Given the description of an element on the screen output the (x, y) to click on. 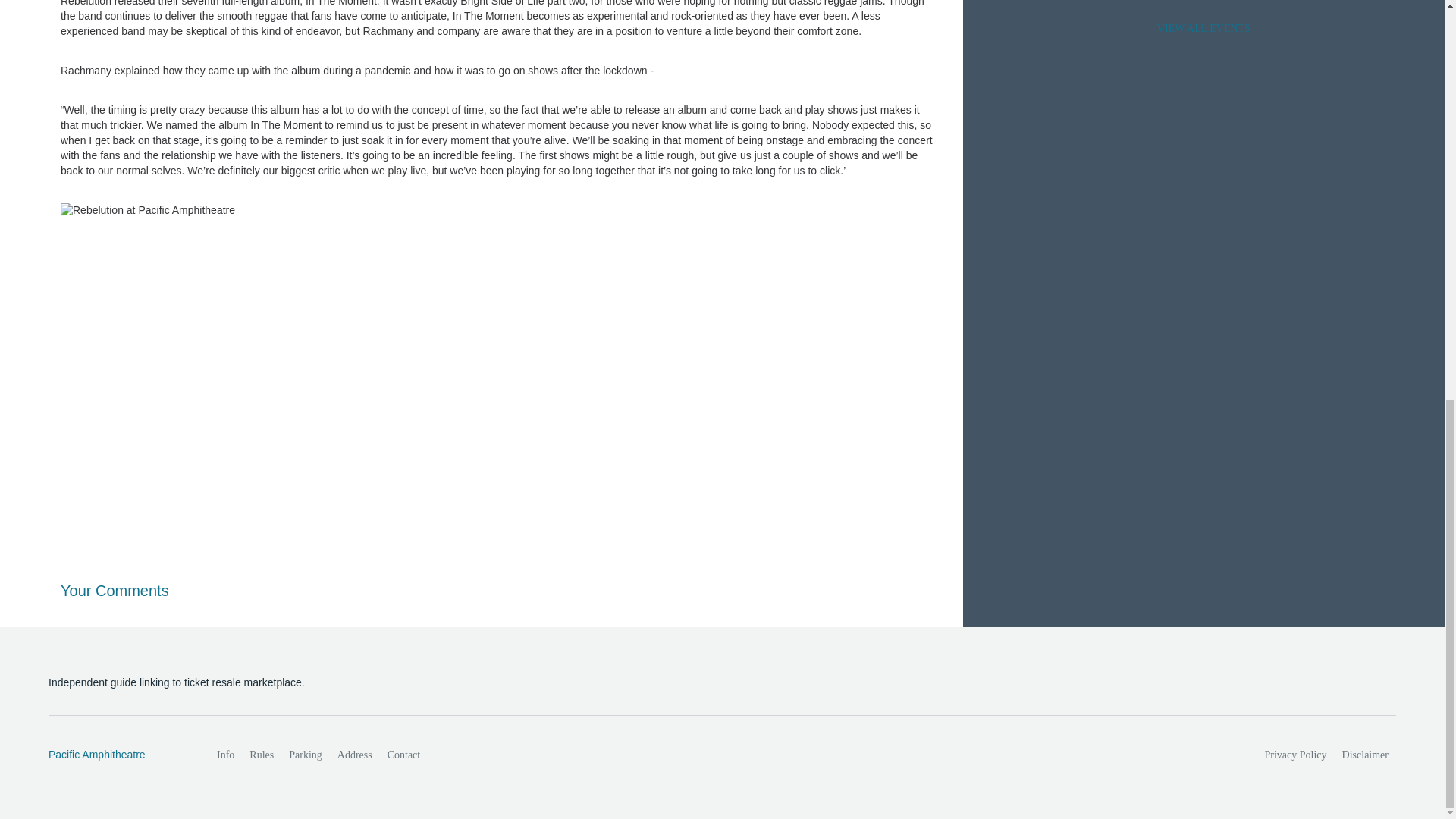
Contact (404, 755)
Address (355, 755)
Disclaimer (1365, 755)
Rules (261, 755)
Parking (305, 755)
Pacific Amphitheatre (116, 754)
VIEW ALL EVENTS (1203, 28)
Privacy Policy (1296, 755)
Info (225, 755)
